Given the description of an element on the screen output the (x, y) to click on. 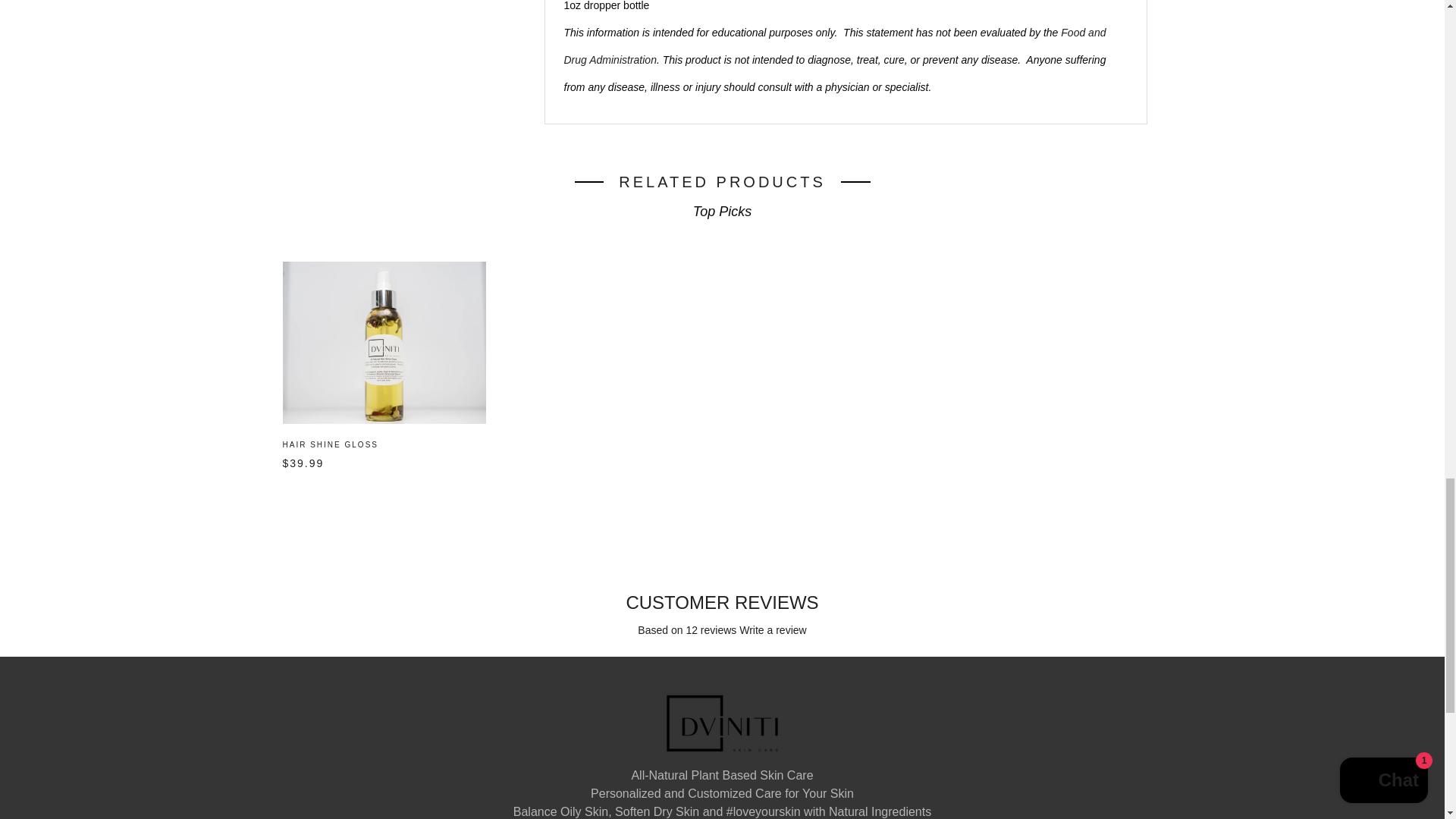
Hair Shine Gloss (383, 342)
